Given the description of an element on the screen output the (x, y) to click on. 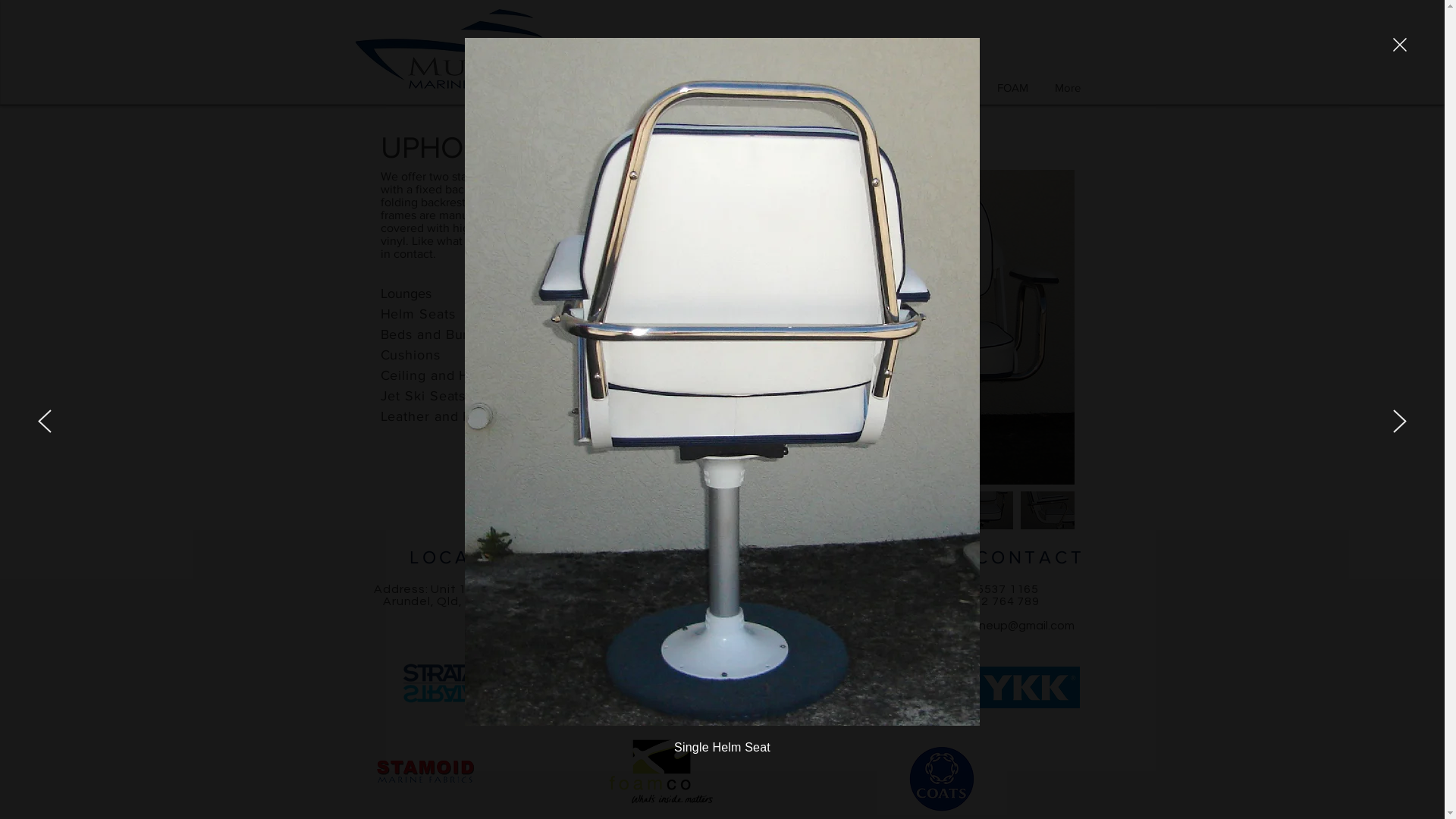
Lounges Element type: text (405, 292)
Beds and Bunks Element type: text (433, 333)
HOME Element type: text (614, 87)
Click here Element type: text (542, 239)
Leather and Fabric Range Element type: text (464, 415)
murraysmarineup@gmail.com Element type: text (992, 624)
Jet Ski Seats Element type: text (423, 395)
Cushions Element type: text (410, 354)
ABOUT Element type: text (676, 87)
FOAM Element type: text (1011, 87)
Helm Seats Element type: text (417, 313)
Ceiling and Hull Lining Element type: text (455, 374)
